Given the description of an element on the screen output the (x, y) to click on. 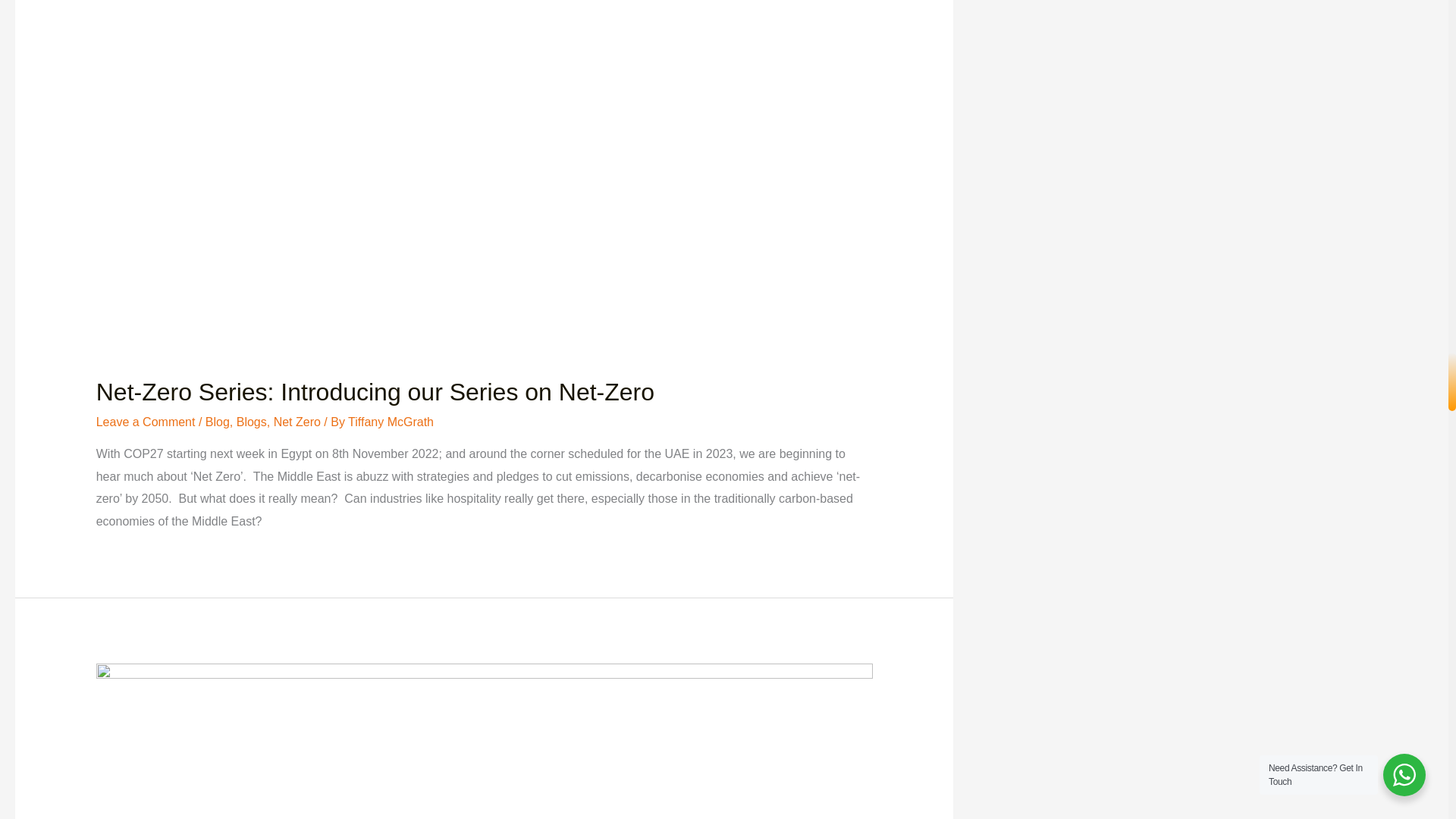
View all posts by Tiffany McGrath (390, 421)
